Given the description of an element on the screen output the (x, y) to click on. 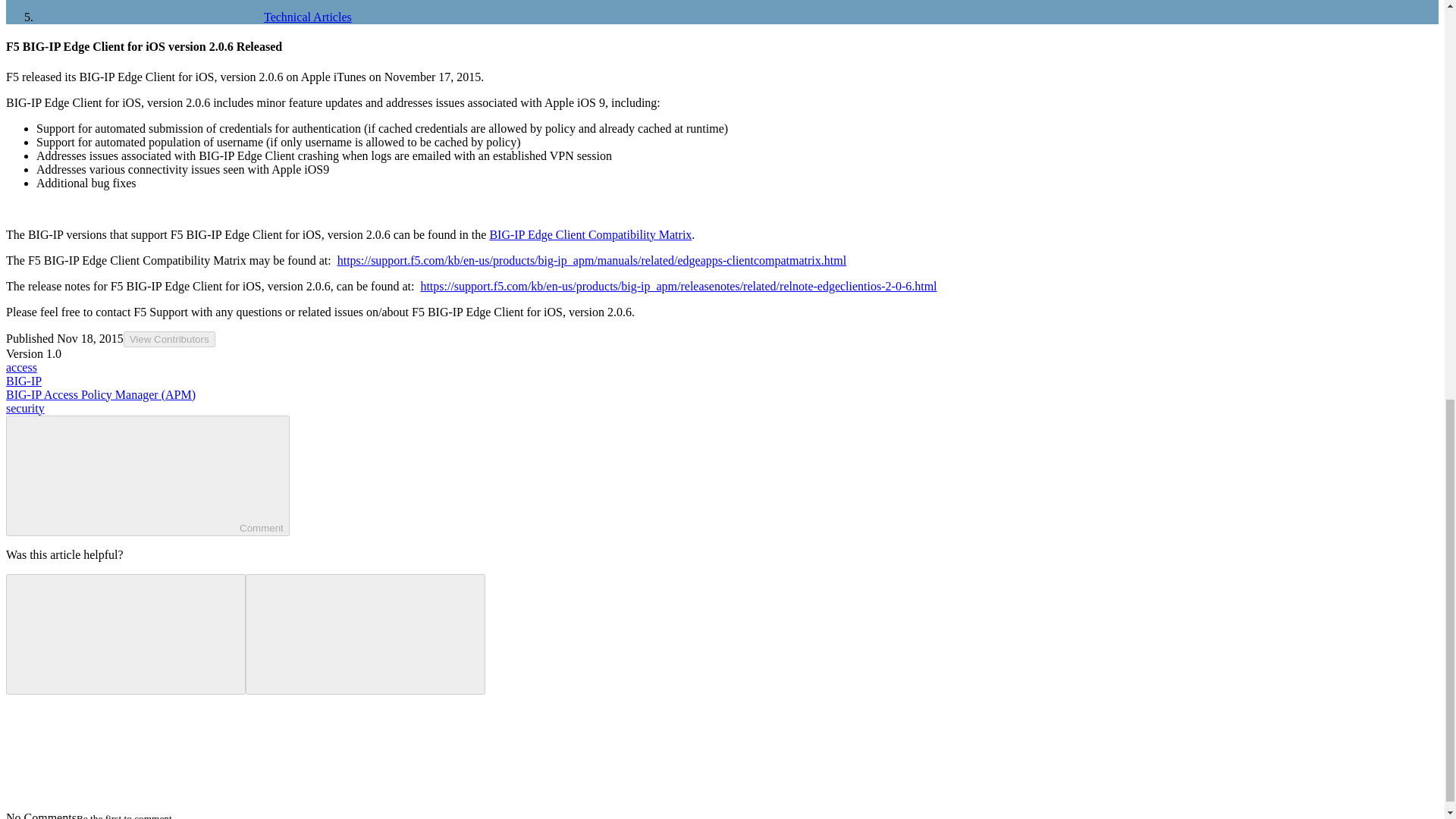
security (25, 408)
Comment (125, 474)
access (21, 367)
November 18, 2015 at 11:20 PM (89, 338)
CommentComment (147, 475)
Technical Articles (194, 16)
View Contributors (169, 339)
BIG-IP Edge Client Compatibility Matrix (590, 234)
BIG-IP (23, 380)
